Given the description of an element on the screen output the (x, y) to click on. 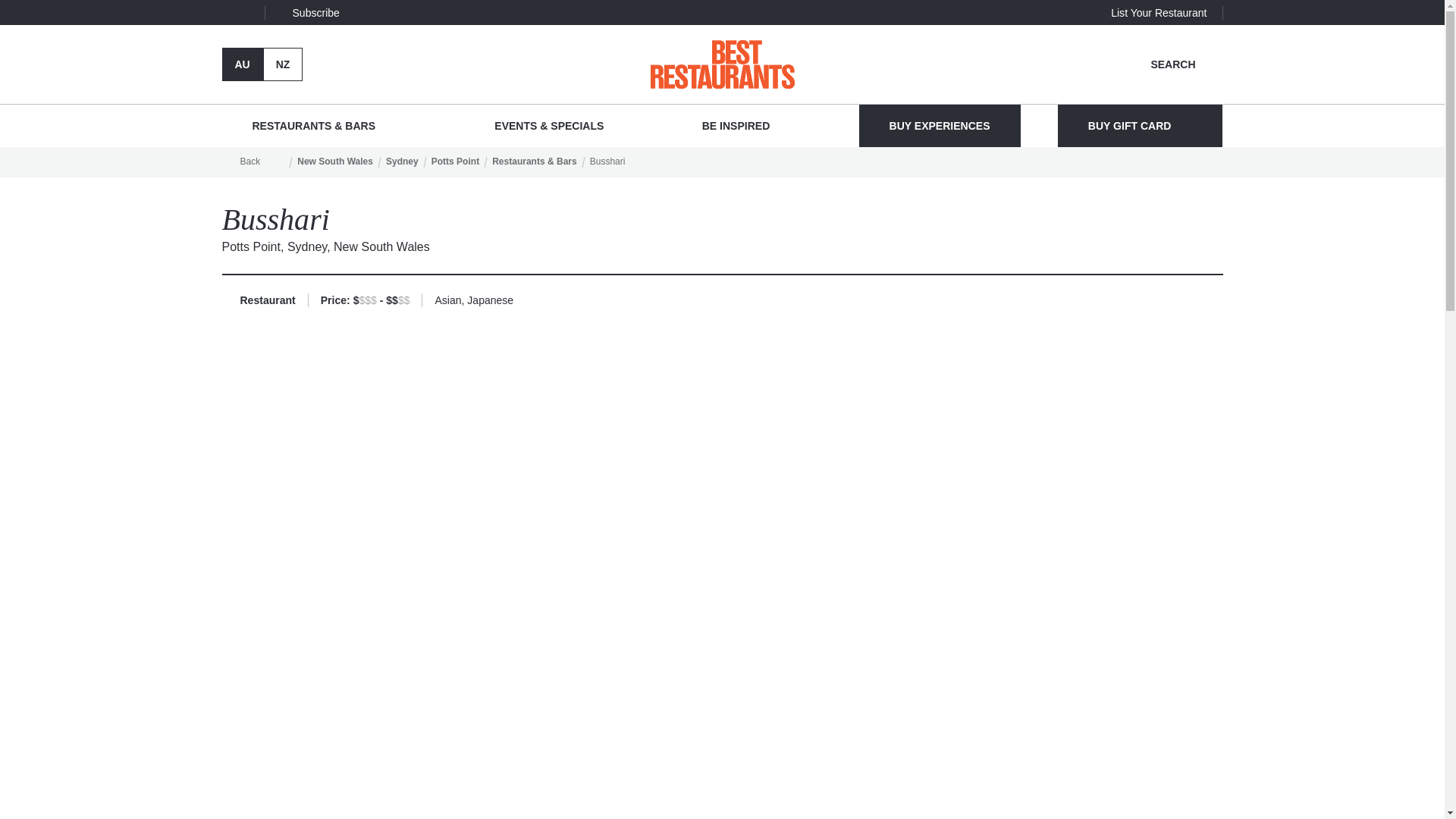
BE INSPIRED (746, 125)
Back to Best Restaurants home (722, 64)
List Your Restaurant (1158, 12)
Facebook (226, 12)
Subscribe (307, 12)
AU (241, 64)
BUY GIFT CARD (1140, 125)
Instagram (248, 12)
BUY EXPERIENCES (939, 125)
NZ (282, 64)
SEARCH (1186, 64)
